Given the description of an element on the screen output the (x, y) to click on. 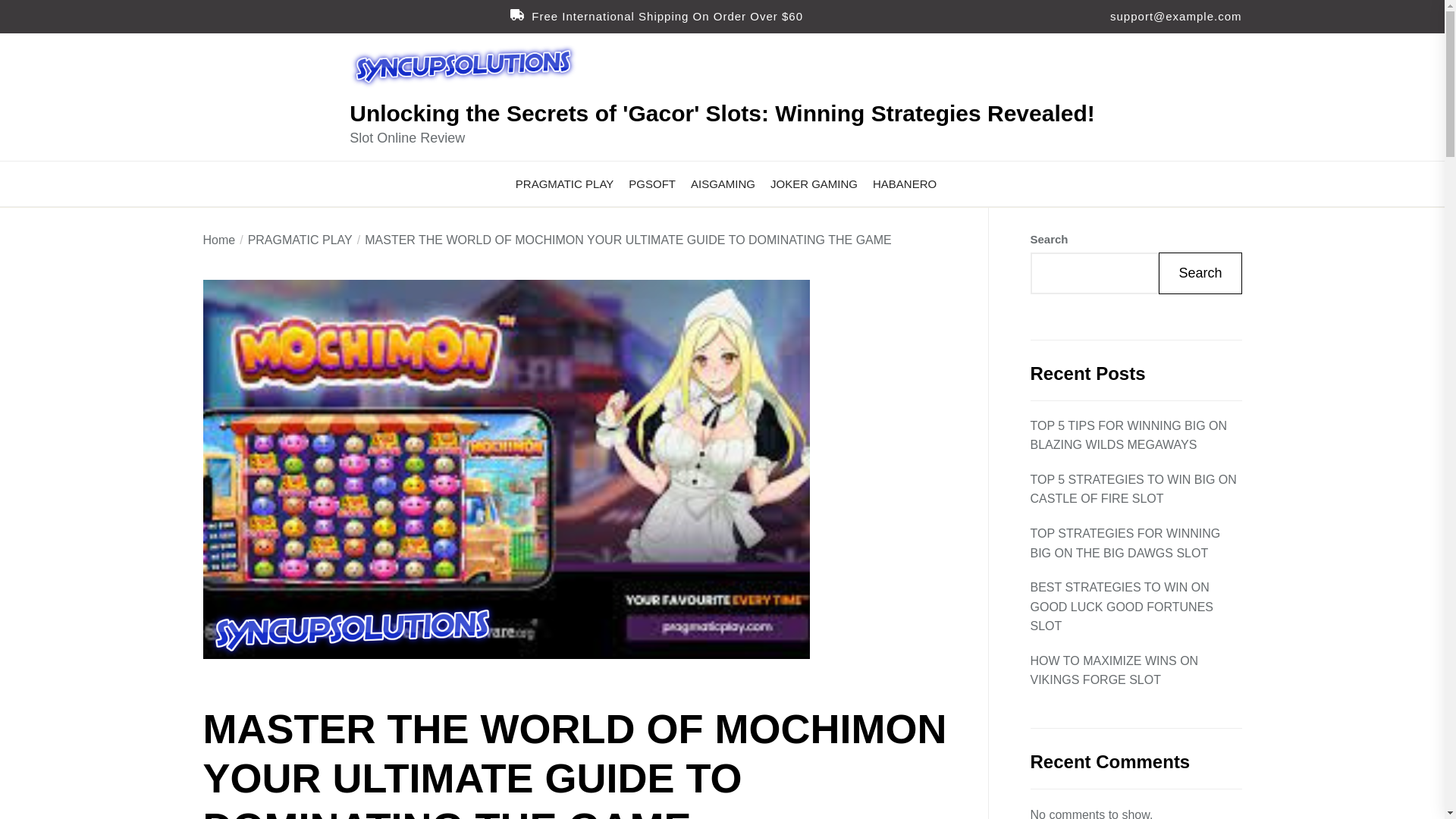
HOW TO MAXIMIZE WINS ON VIKINGS FORGE SLOT (1135, 670)
Search (1199, 273)
Home (219, 239)
BEST STRATEGIES TO WIN ON GOOD LUCK GOOD FORTUNES SLOT (1135, 607)
PRAGMATIC PLAY (563, 183)
HABANERO (904, 183)
TOP 5 TIPS FOR WINNING BIG ON BLAZING WILDS MEGAWAYS (1135, 435)
TOP 5 STRATEGIES TO WIN BIG ON CASTLE OF FIRE SLOT (1135, 489)
TOP STRATEGIES FOR WINNING BIG ON THE BIG DAWGS SLOT (1135, 543)
JOKER GAMING (813, 183)
PRAGMATIC PLAY (293, 239)
PGSOFT (651, 183)
AISGAMING (722, 183)
